Given the description of an element on the screen output the (x, y) to click on. 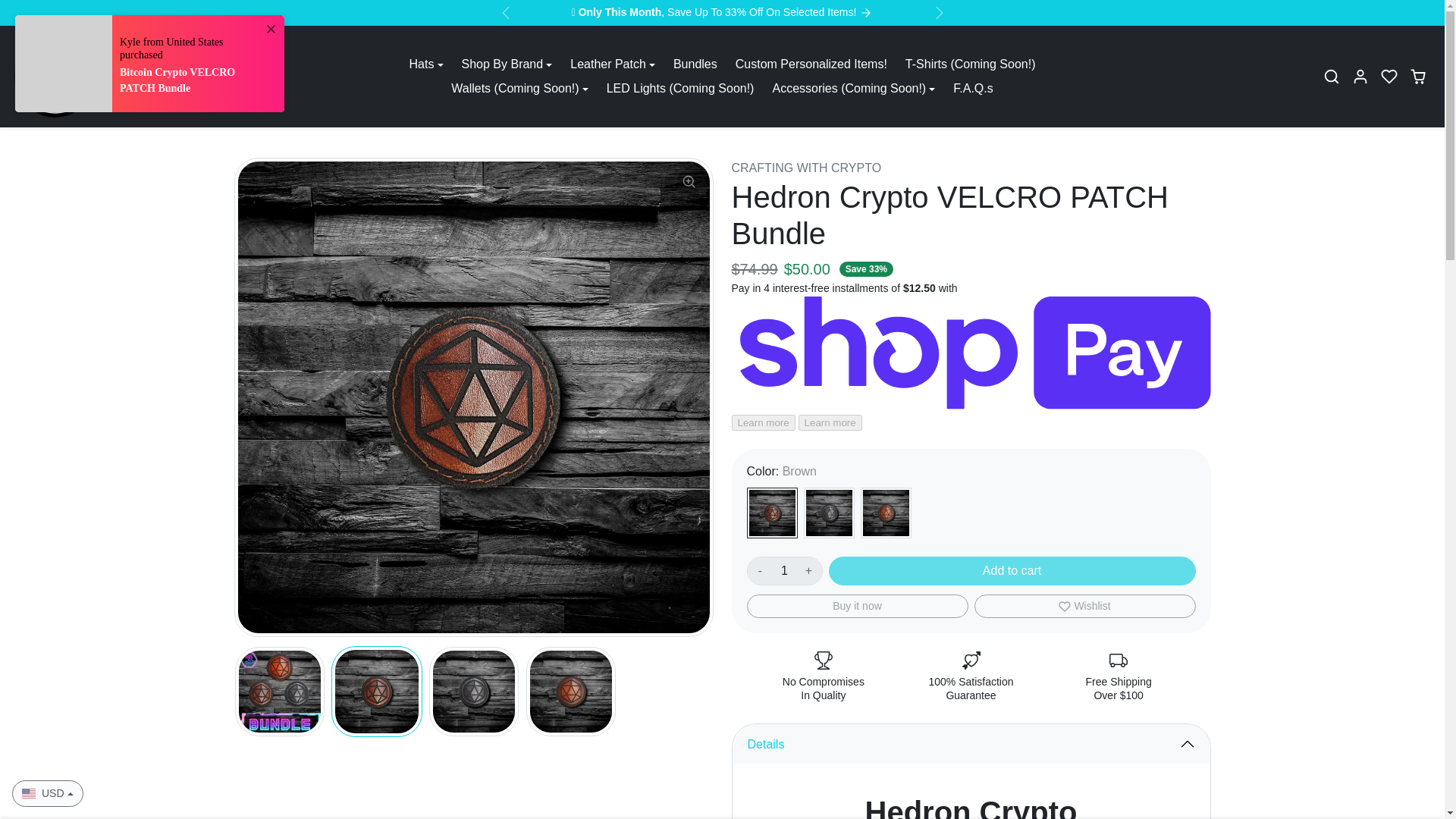
Hats (426, 64)
Next (938, 5)
Shop By Brand (507, 64)
Custom Personalized Items! (811, 64)
F.A.Q.s (972, 88)
1 (783, 570)
Leather Patch (611, 64)
Bundles (694, 64)
